Given the description of an element on the screen output the (x, y) to click on. 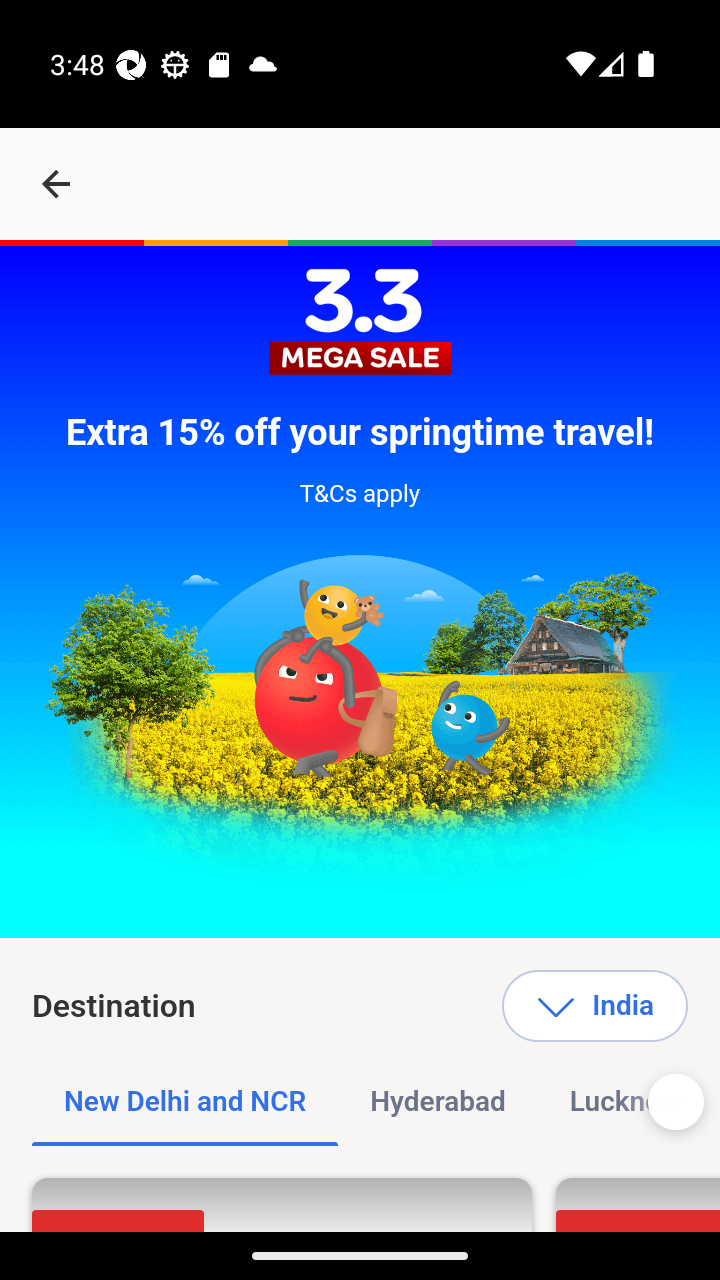
navigation_button (56, 184)
India (594, 1005)
New Delhi and NCR (185, 1101)
Hyderabad (437, 1101)
Lucknow (625, 1101)
